Given the description of an element on the screen output the (x, y) to click on. 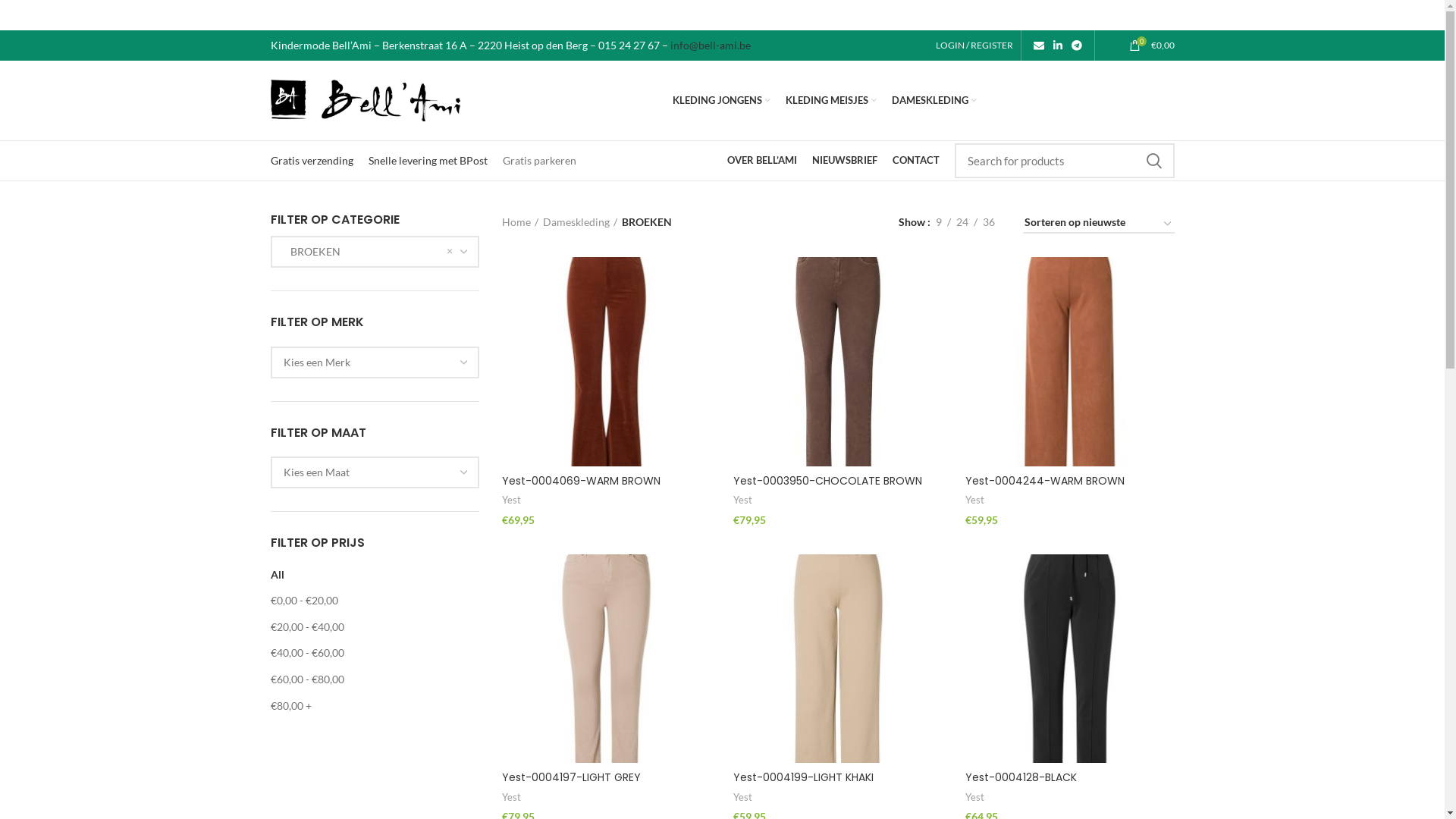
SEARCH Element type: text (1153, 160)
All Element type: text (276, 573)
36 Element type: text (987, 221)
Yest-0004244-WARM BROWN Element type: text (1044, 480)
Yest-0004069-WARM BROWN Element type: text (581, 480)
Dameskleding Element type: text (579, 221)
Yest Element type: text (742, 797)
NIEUWSBRIEF Element type: text (843, 160)
24 Element type: text (961, 221)
LOGIN / REGISTER Element type: text (974, 45)
Yest Element type: text (974, 500)
Yest Element type: text (974, 797)
Snelle levering met BPost Element type: text (427, 159)
Yest Element type: text (511, 500)
Yest-0003950-CHOCOLATE BROWN Element type: text (827, 480)
KLEDING MEISJES Element type: text (831, 99)
Yest Element type: text (742, 500)
DAMESKLEDING Element type: text (934, 99)
Yest-0004199-LIGHT KHAKI Element type: text (803, 776)
Yest-0004128-BLACK Element type: text (1020, 776)
info@bell-ami.be Element type: text (710, 44)
CONTACT Element type: text (915, 160)
Search for products Element type: hover (1063, 160)
9 Element type: text (937, 221)
Gratis verzending Element type: text (310, 159)
KLEDING JONGENS Element type: text (721, 99)
Yest Element type: text (511, 797)
Home Element type: text (520, 221)
Yest-0004197-LIGHT GREY Element type: text (571, 776)
